Given the description of an element on the screen output the (x, y) to click on. 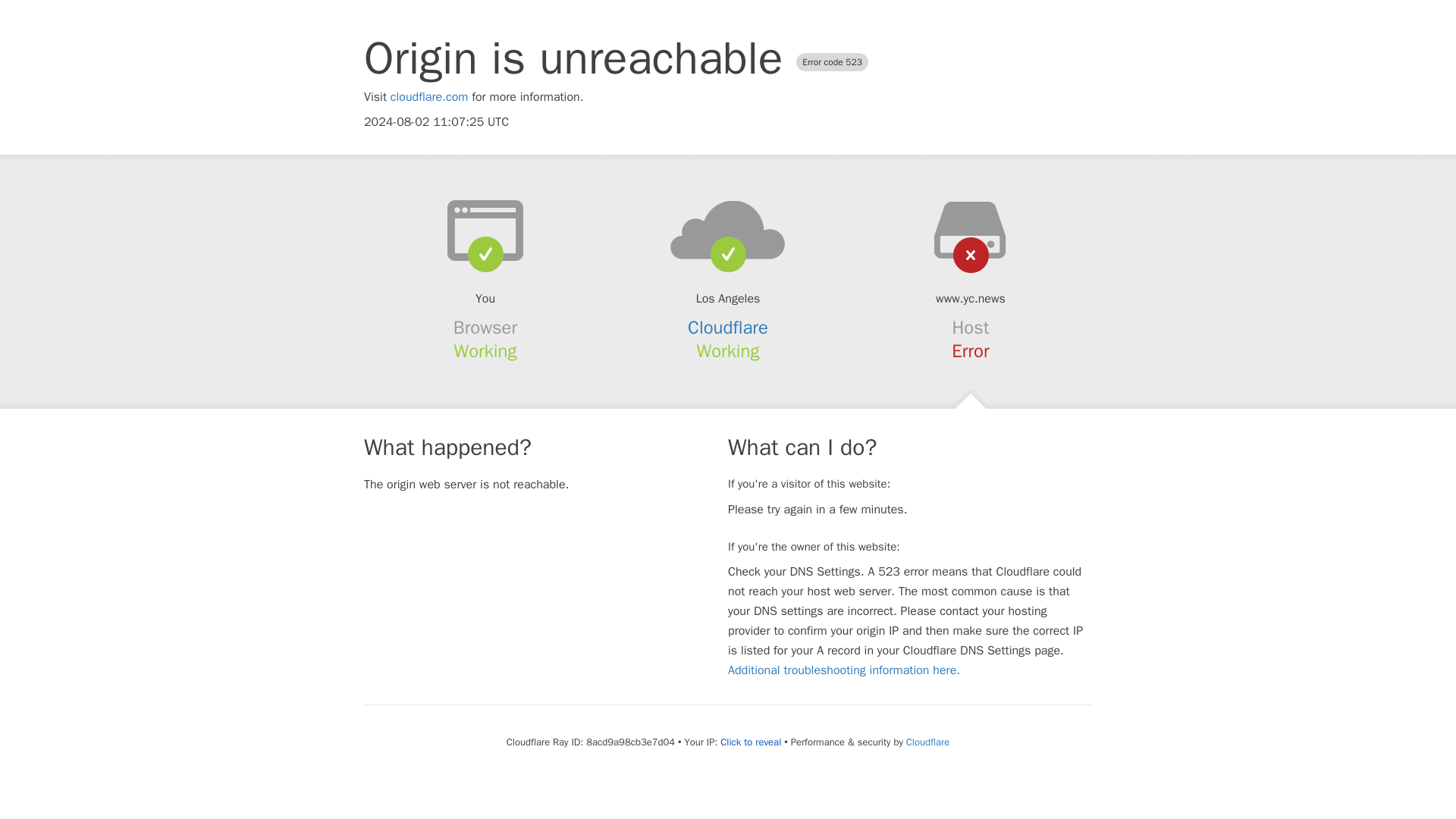
Click to reveal (749, 742)
cloudflare.com (429, 96)
Cloudflare (727, 327)
Additional troubleshooting information here. (843, 670)
Cloudflare (925, 741)
